Given the description of an element on the screen output the (x, y) to click on. 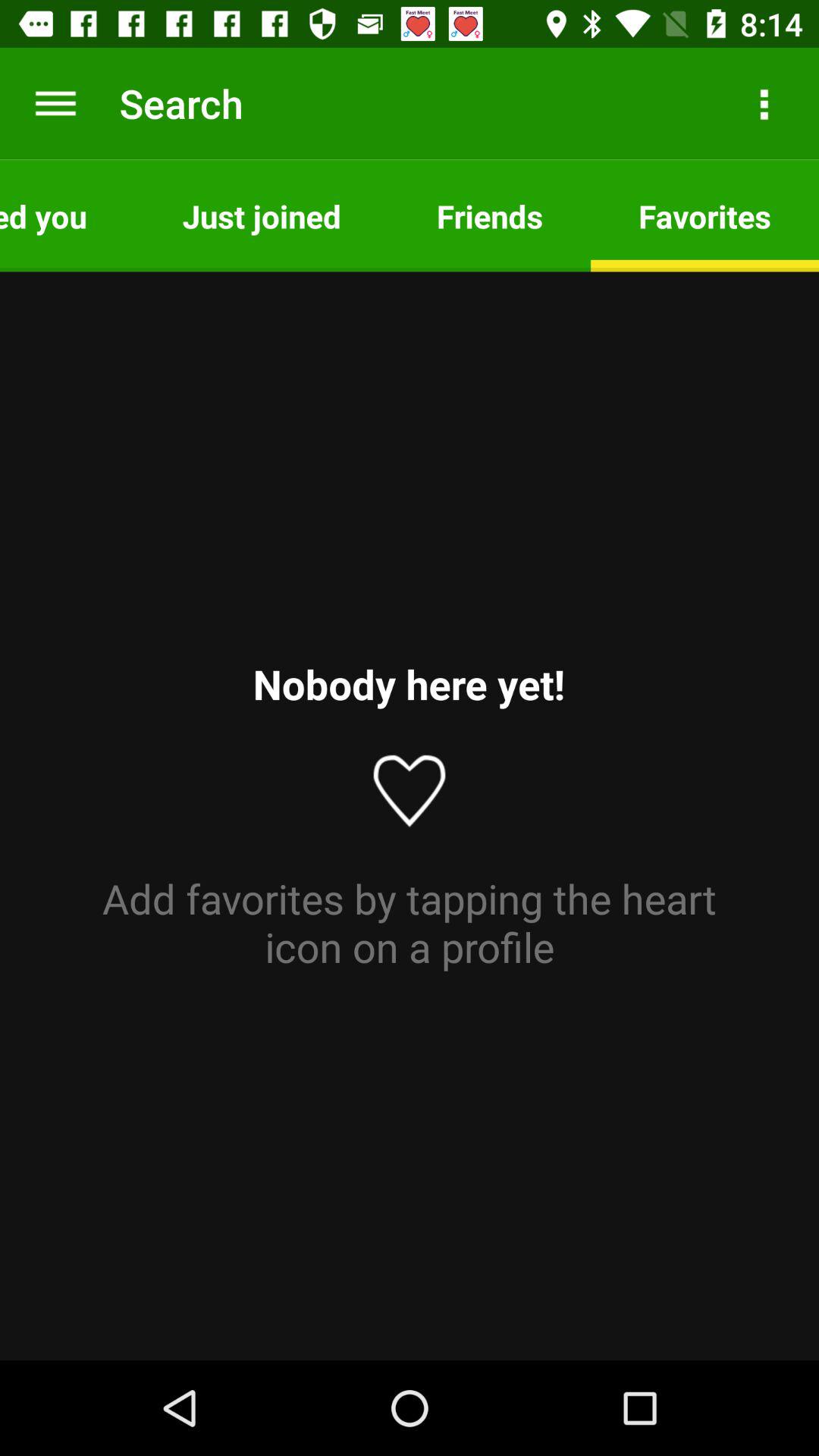
turn on the item next to the favorites icon (489, 215)
